Given the description of an element on the screen output the (x, y) to click on. 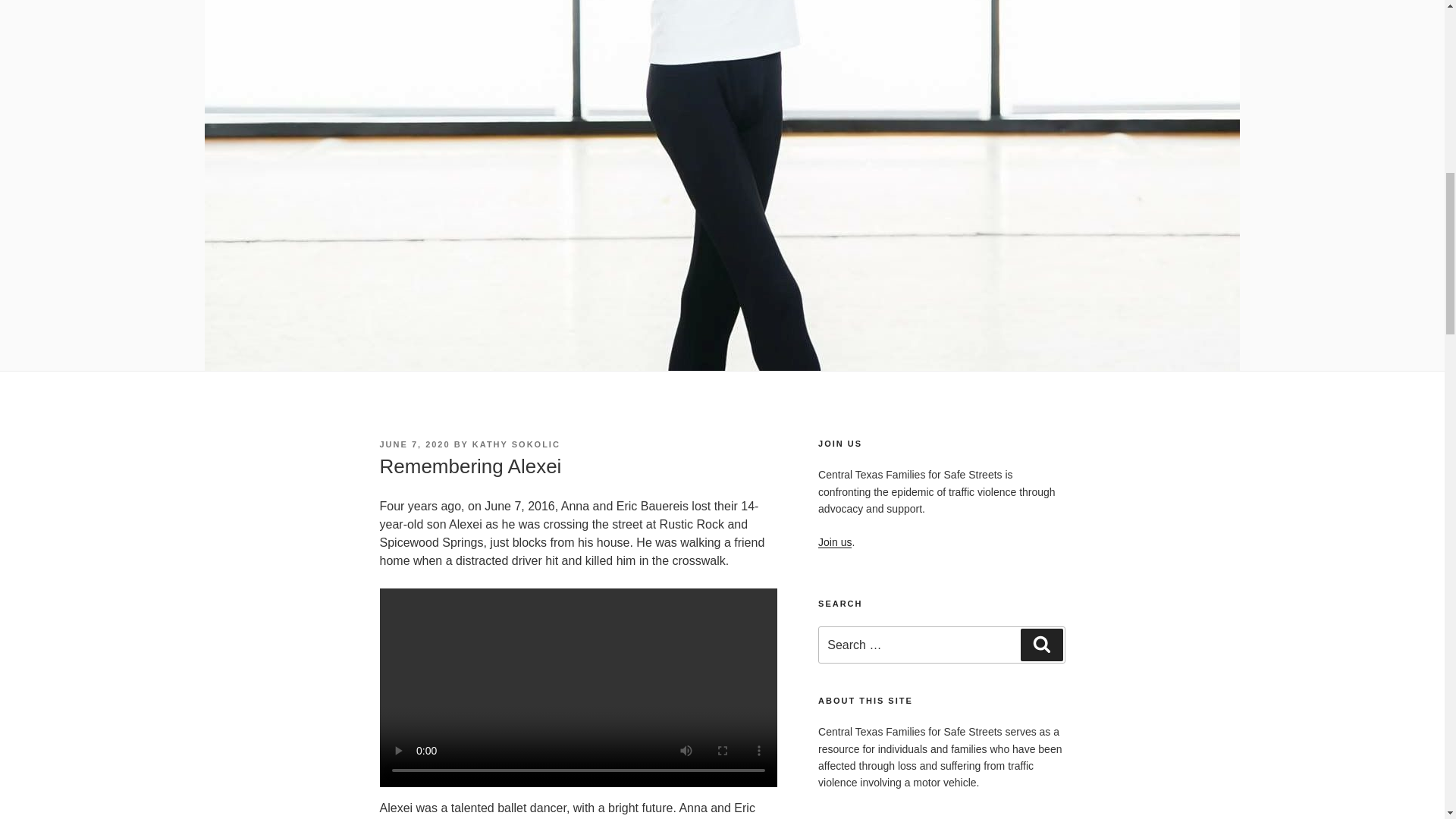
JUNE 7, 2020 (413, 443)
Join us (834, 541)
KATHY SOKOLIC (515, 443)
Search (1041, 644)
